Given the description of an element on the screen output the (x, y) to click on. 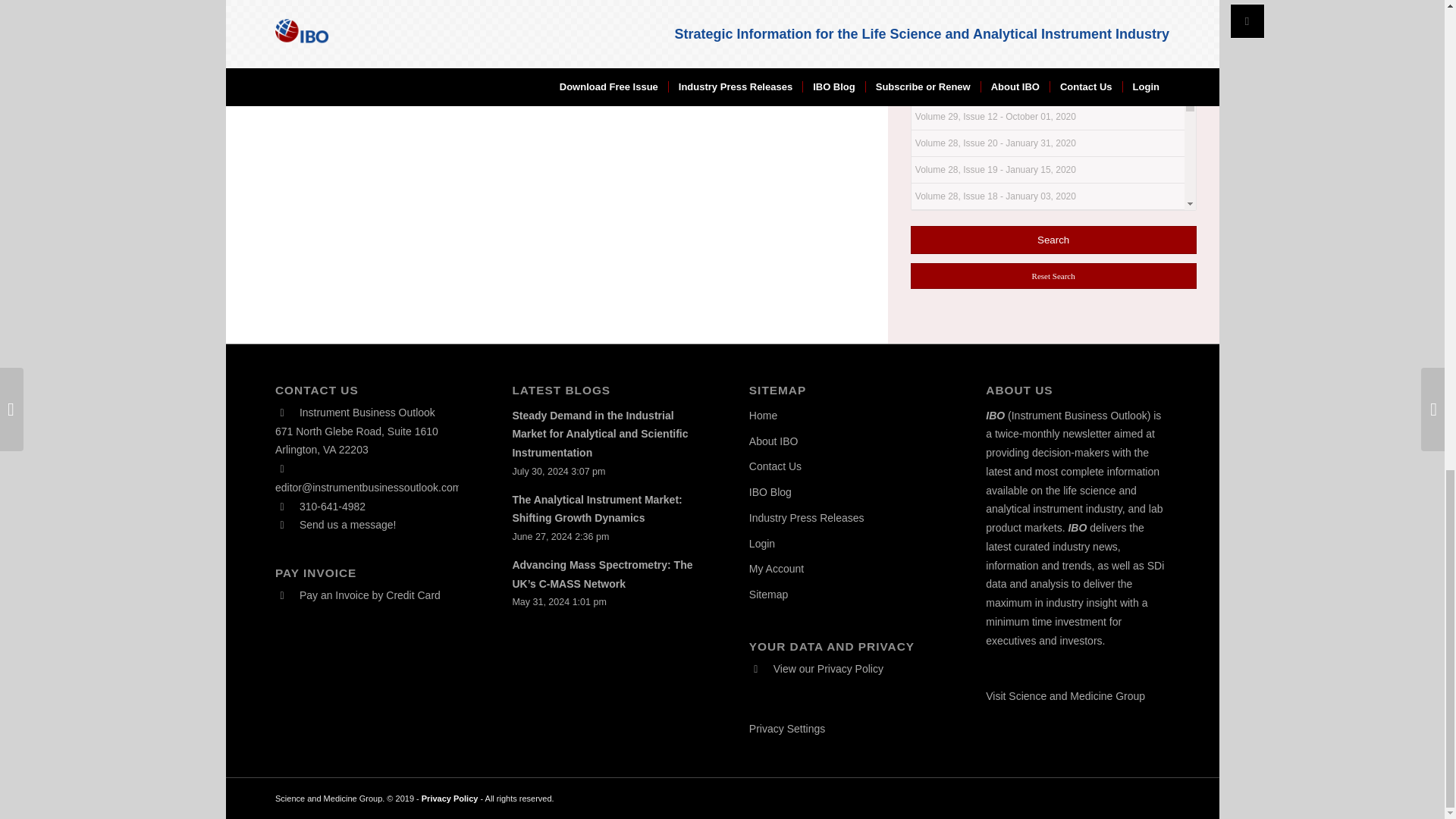
Feature Type (949, 21)
Region (933, 0)
The Analytical Instrument Market: Shifting Growth Dynamics (596, 508)
